Given the description of an element on the screen output the (x, y) to click on. 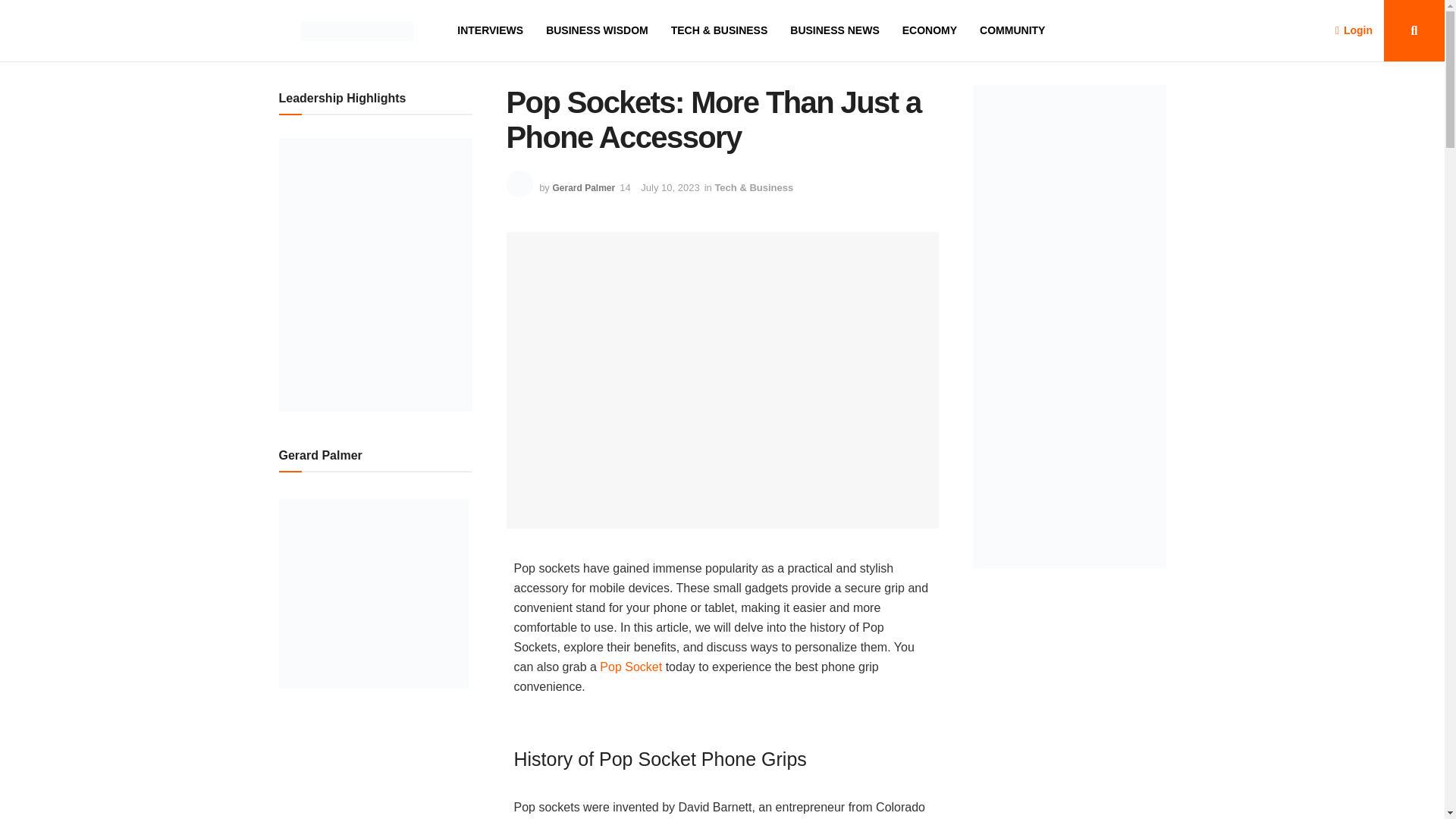
INTERVIEWS (489, 30)
ECONOMY (929, 30)
Gerard Palmer (582, 187)
July 10, 2023 (669, 187)
COMMUNITY (1012, 30)
BUSINESS NEWS (834, 30)
BUSINESS WISDOM (596, 30)
Pop Socket (630, 666)
